Given the description of an element on the screen output the (x, y) to click on. 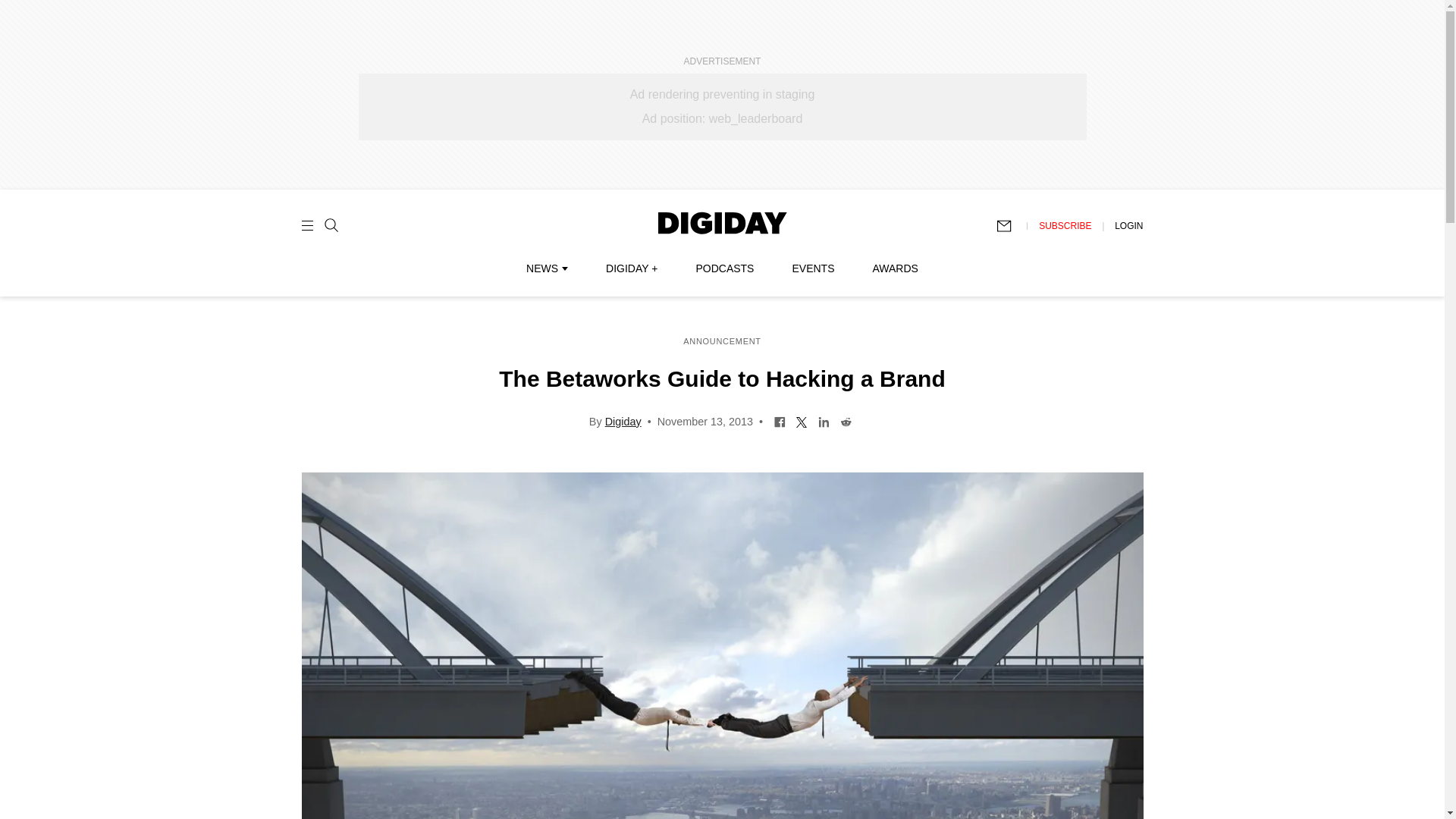
LOGIN (1128, 225)
Share on Facebook (779, 420)
AWARDS (894, 267)
Subscribe (1010, 225)
Share on Reddit (845, 420)
EVENTS (813, 267)
NEWS (546, 267)
Share on LinkedIn (822, 420)
SUBSCRIBE (1064, 225)
PODCASTS (725, 267)
